Given the description of an element on the screen output the (x, y) to click on. 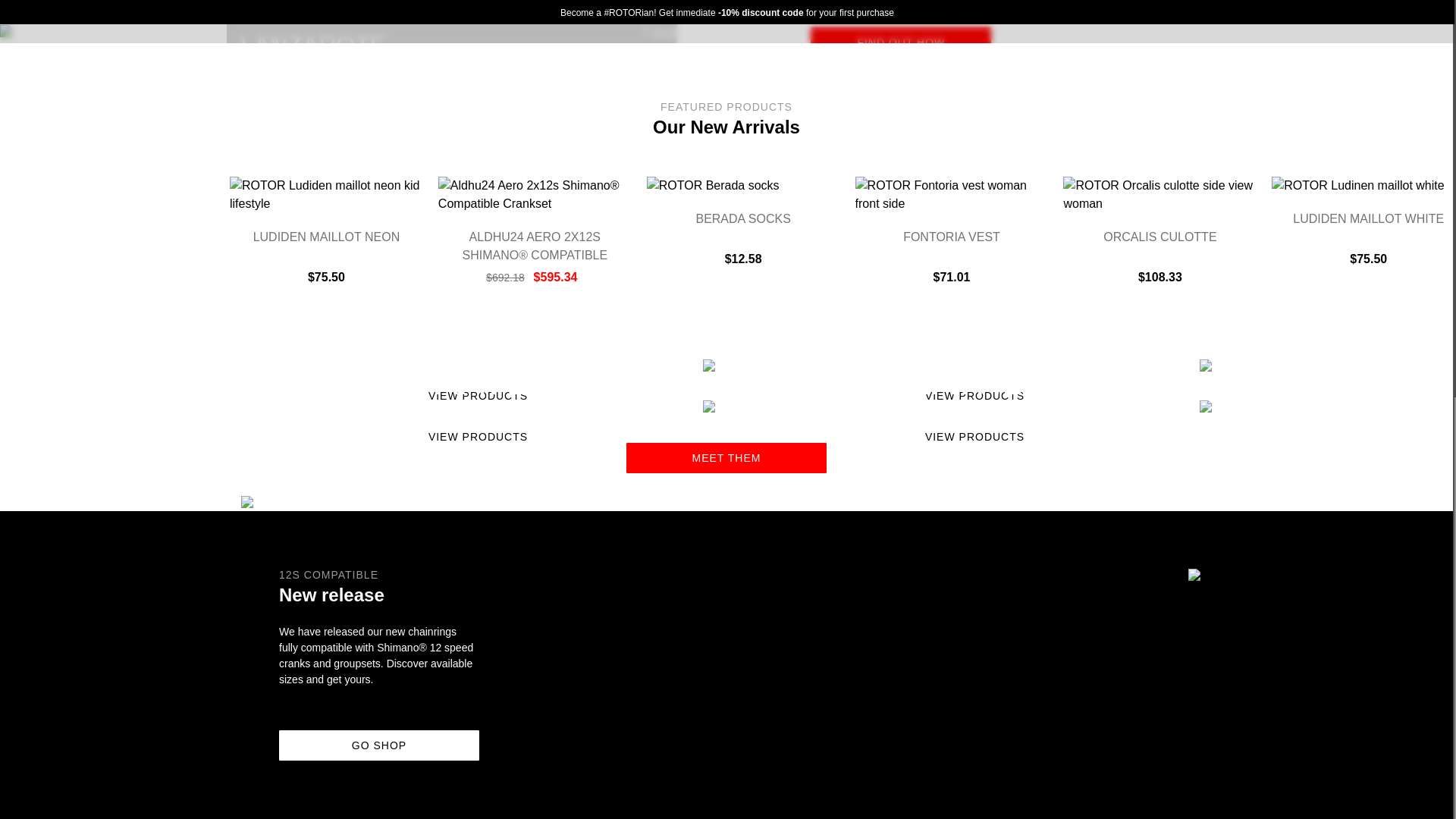
Orcalis culotte  (1159, 236)
Ludiden maillot white (1368, 218)
INNOVATION (572, 70)
Ludiden maillot neon (326, 236)
Fontoria vest (951, 236)
Berada socks (742, 218)
CATALOGUE (474, 70)
